Given the description of an element on the screen output the (x, y) to click on. 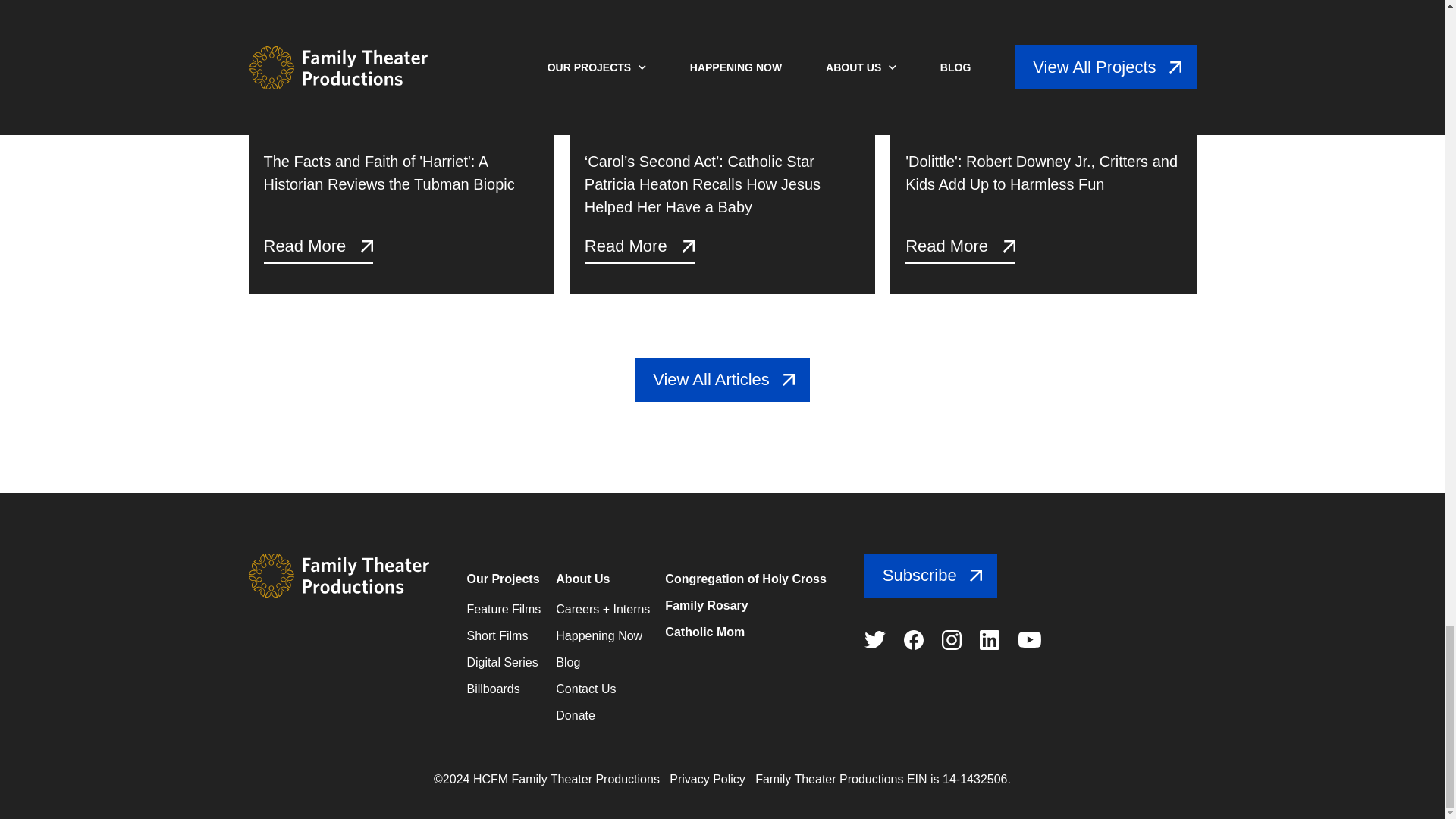
View All Articles (721, 379)
Digital Series (502, 662)
Our Projects (503, 578)
Family Theater Productions (338, 575)
Feature Films (504, 608)
Short Films (497, 635)
